Given the description of an element on the screen output the (x, y) to click on. 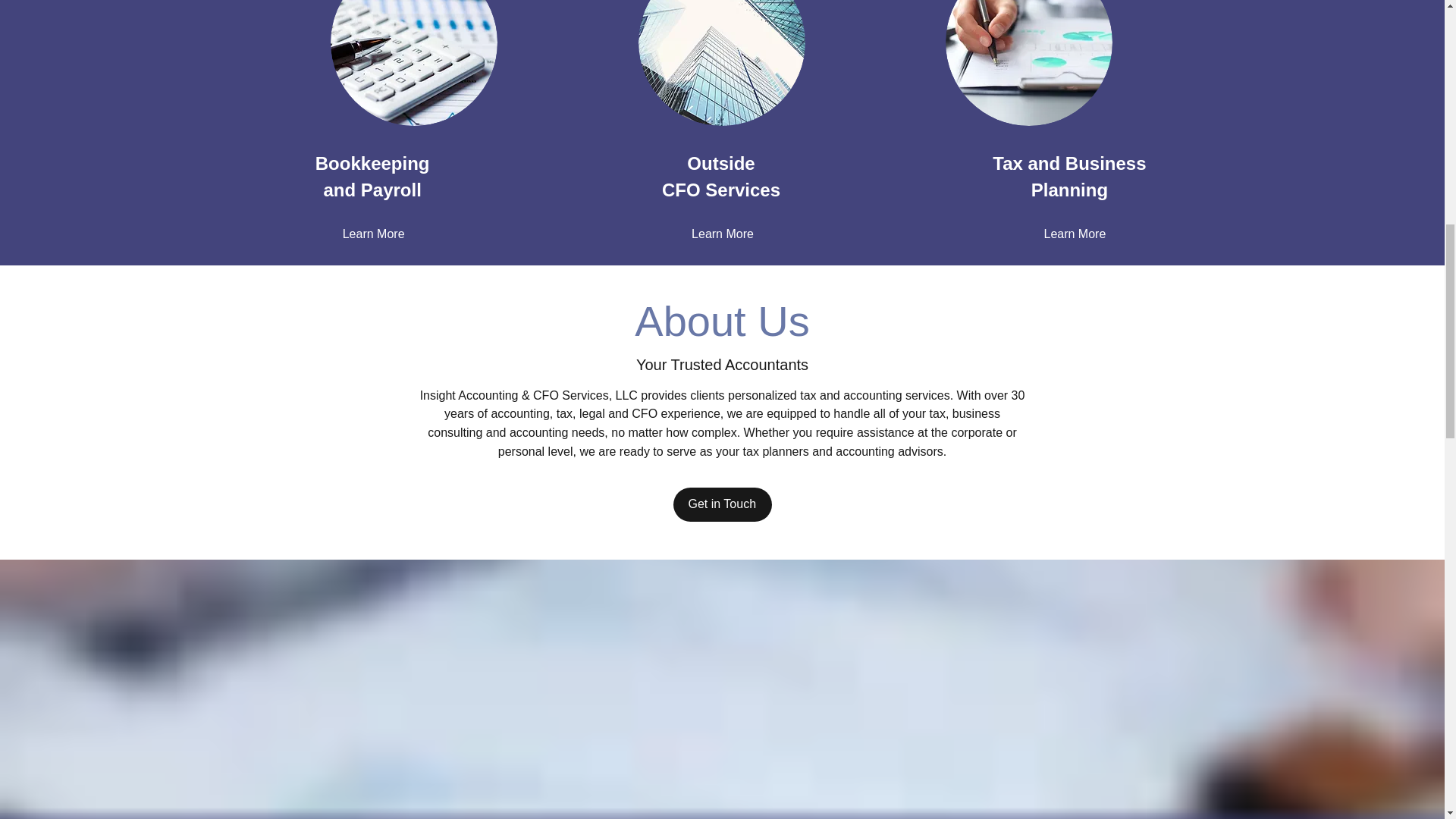
Learn More (1074, 234)
Learn More (373, 234)
Get in Touch (721, 504)
Learn More (722, 234)
